Given the description of an element on the screen output the (x, y) to click on. 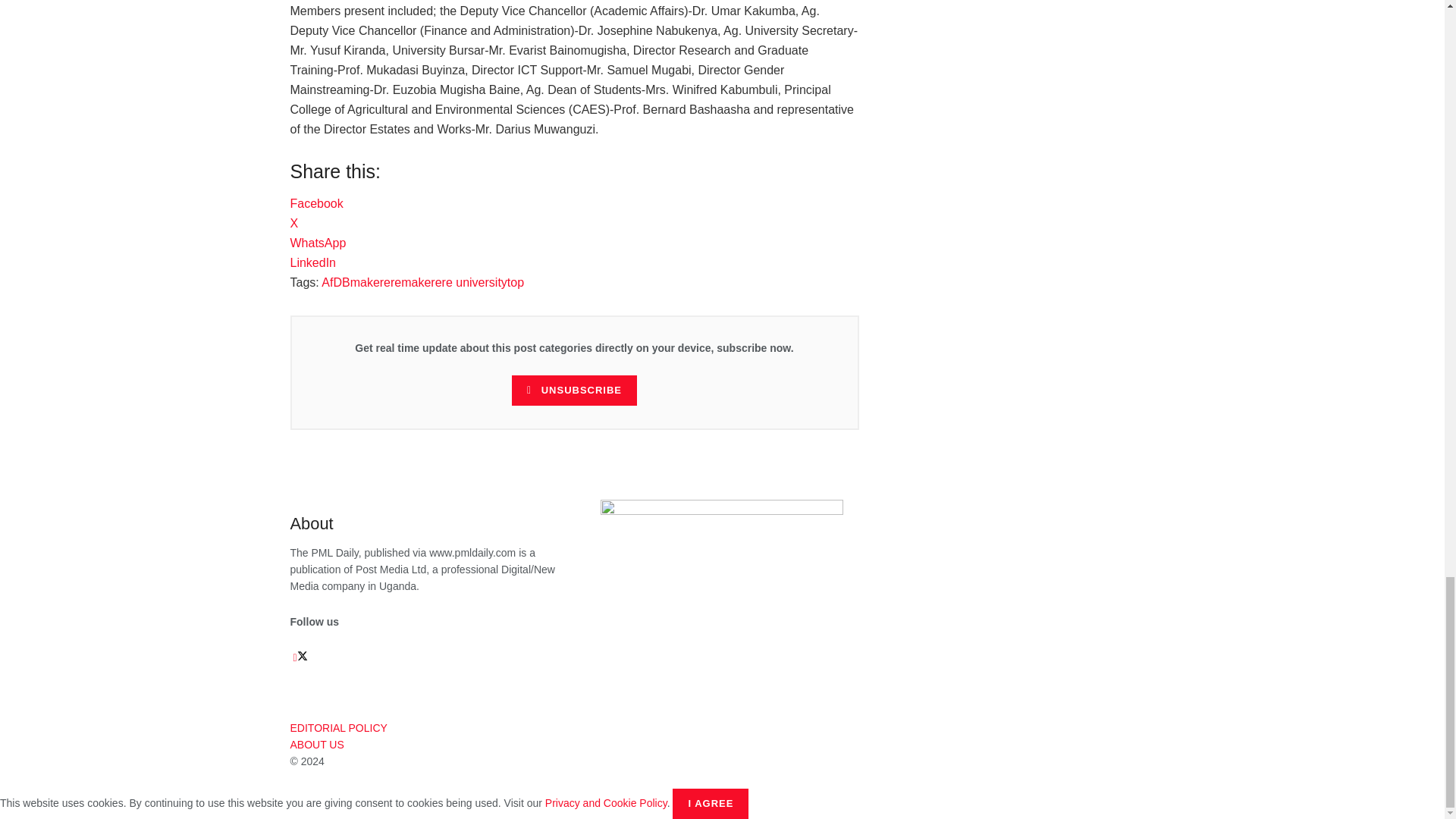
Click to share on LinkedIn (312, 262)
Click to share on Facebook (315, 203)
Click to share on X (293, 223)
Click to share on WhatsApp (317, 242)
